Given the description of an element on the screen output the (x, y) to click on. 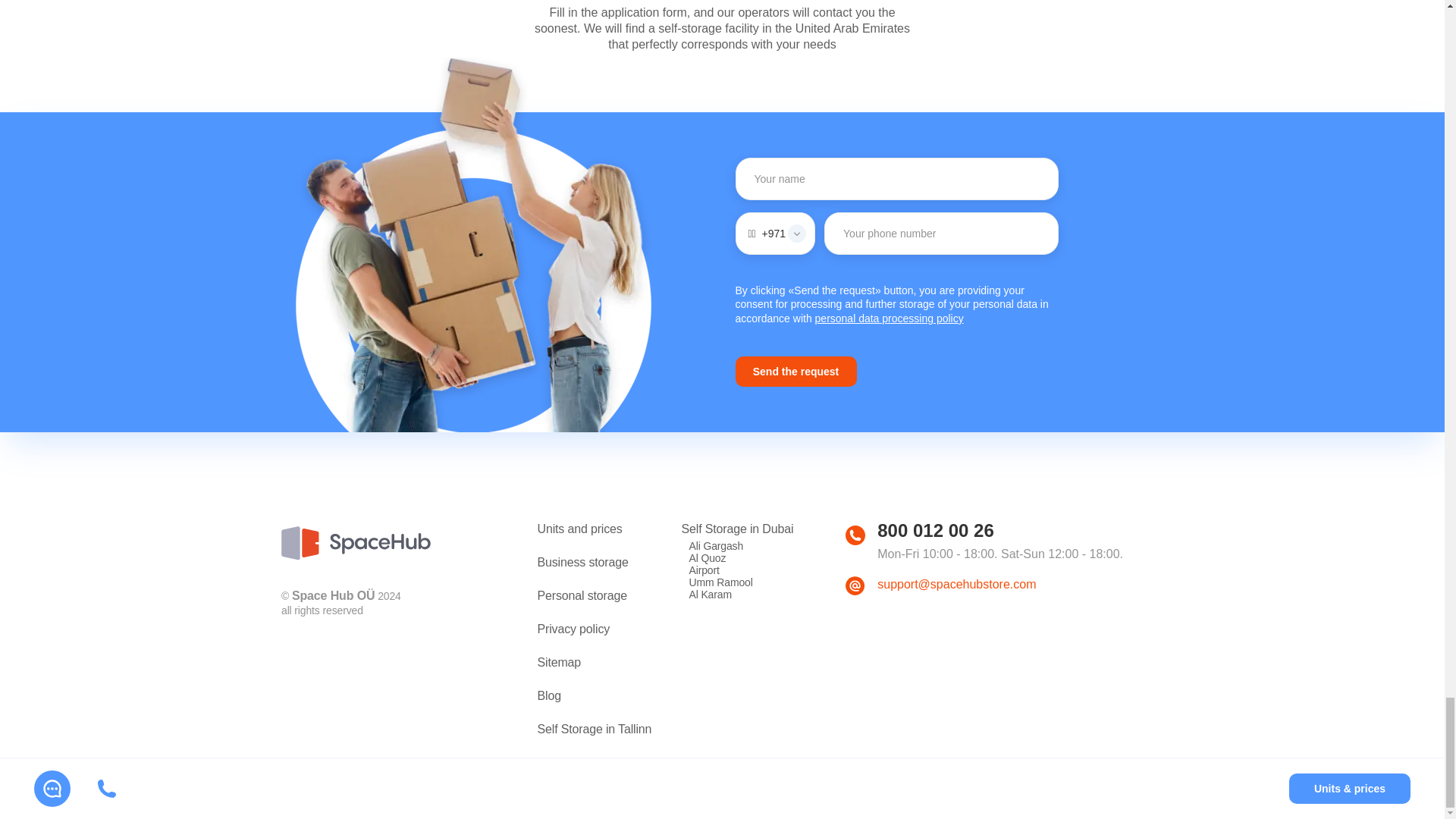
Send the request (796, 371)
personal data processing policy (889, 318)
Send the request (796, 371)
